Given the description of an element on the screen output the (x, y) to click on. 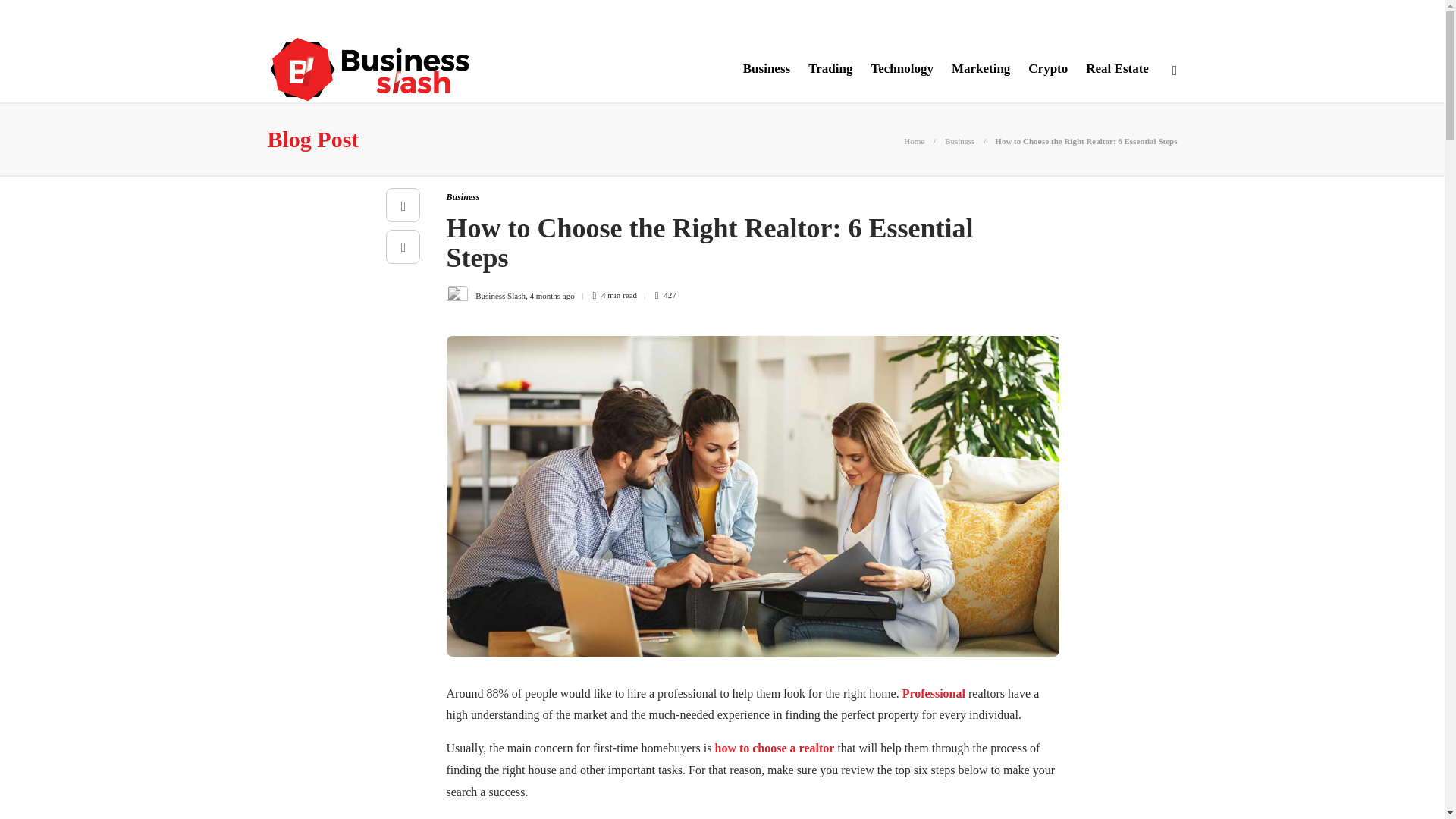
Home (914, 140)
Business (959, 140)
Advertise (406, 17)
Home (914, 140)
How to Choose the Right Realtor: 6 Essential Steps (1085, 140)
Business Slash (500, 294)
How to Choose the Right Realtor: 6 Essential Steps (740, 246)
Marketing (981, 68)
4 months ago (551, 294)
Contact Us (482, 17)
About Us (292, 17)
Real Estate (1117, 68)
Technology (901, 68)
Business (462, 196)
